Given the description of an element on the screen output the (x, y) to click on. 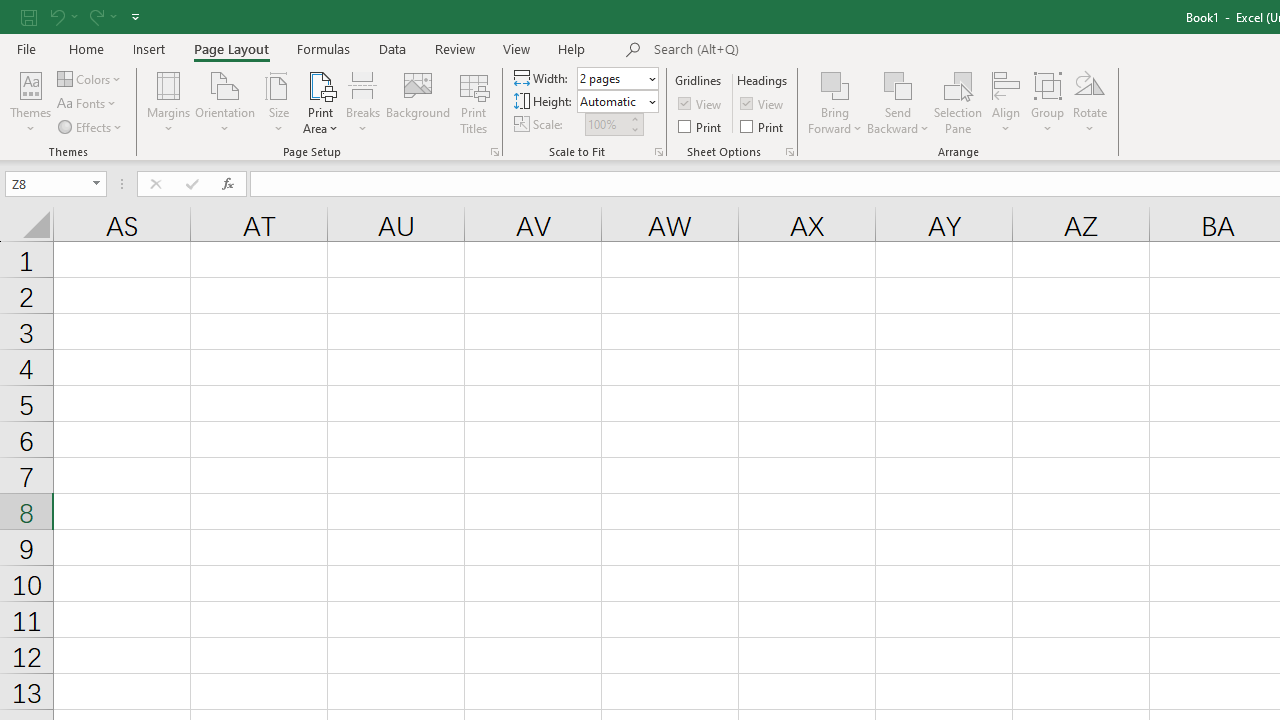
Height (611, 101)
Less (633, 129)
Colors (90, 78)
Effects (91, 126)
Width (611, 78)
Breaks (362, 102)
Bring Forward (835, 102)
Group (1047, 102)
Send Backward (898, 84)
Themes (30, 102)
Scale (605, 124)
